Given the description of an element on the screen output the (x, y) to click on. 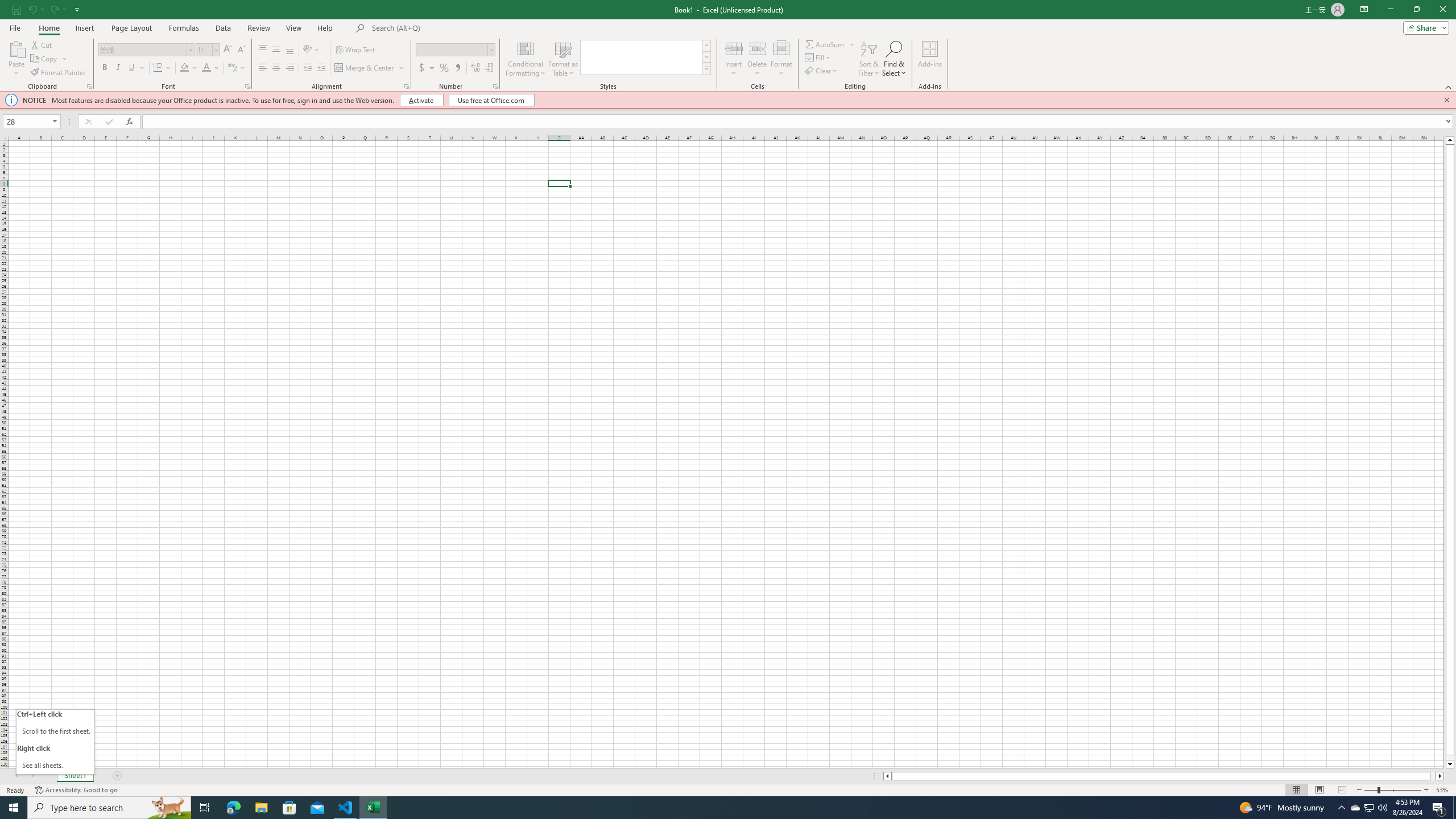
File Tab (15, 27)
Zoom Out (1370, 790)
Conditional Formatting (525, 58)
Help (325, 28)
View (293, 28)
Font (147, 49)
Format Cell Font (247, 85)
Copy (45, 58)
Accounting Number Format (426, 67)
Percent Style (443, 67)
Bottom Border (157, 67)
Column left (886, 775)
Show Phonetic Field (236, 67)
Borders (162, 67)
Redo (53, 9)
